Given the description of an element on the screen output the (x, y) to click on. 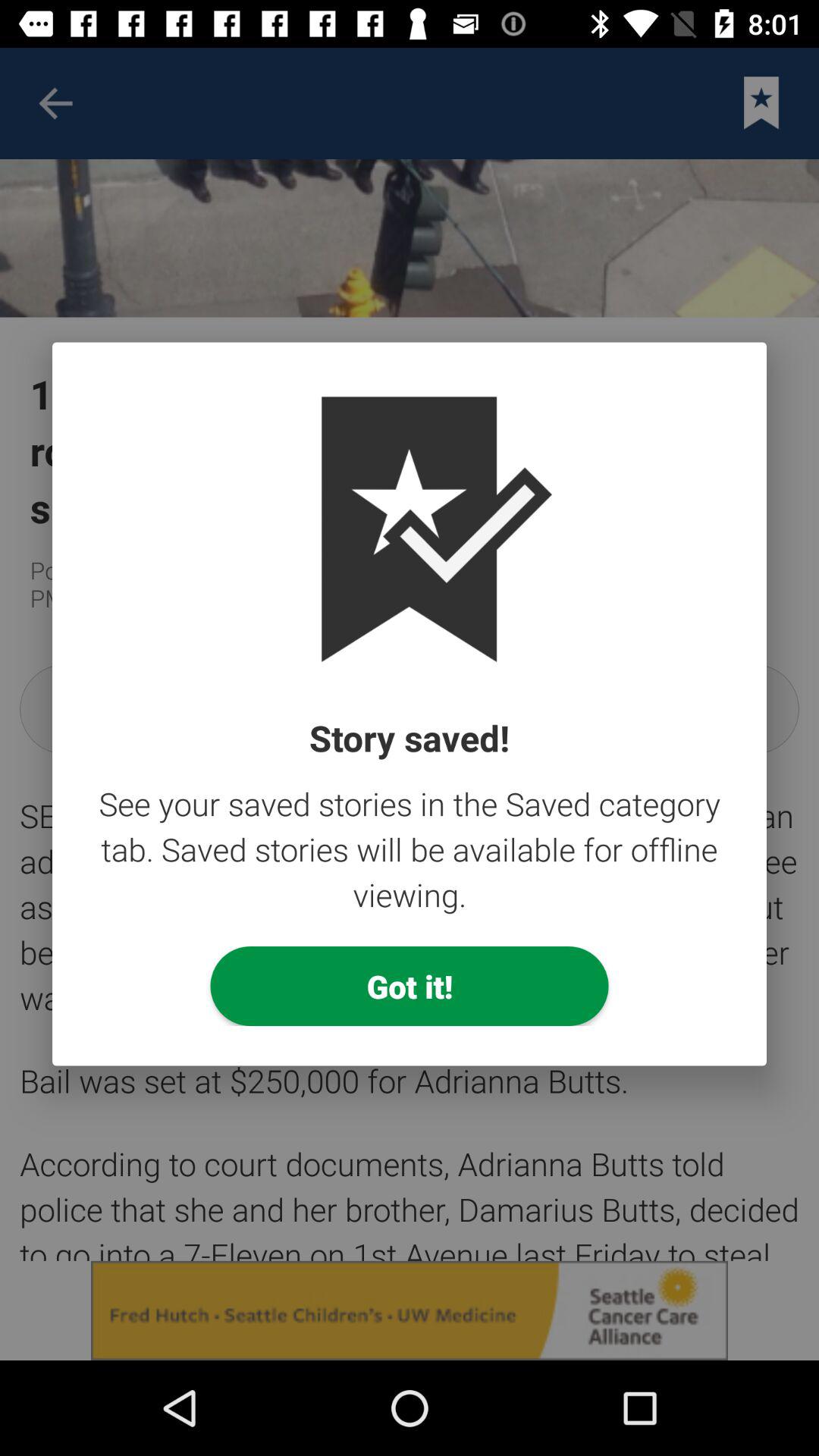
press got it! item (409, 986)
